Given the description of an element on the screen output the (x, y) to click on. 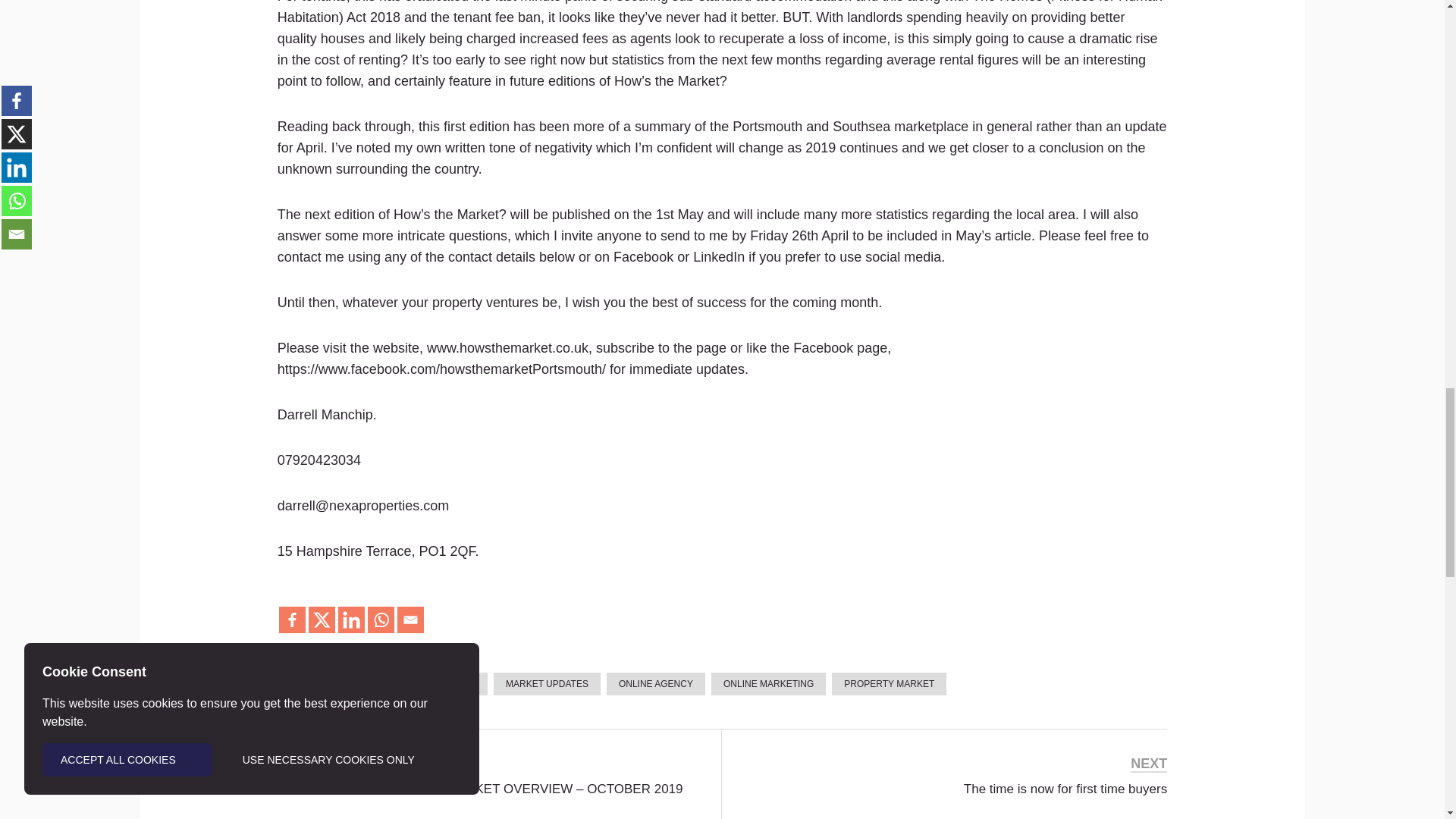
Email (410, 619)
Linkedin (351, 619)
Facebook (292, 619)
Whatsapp (381, 619)
X (321, 619)
